Given the description of an element on the screen output the (x, y) to click on. 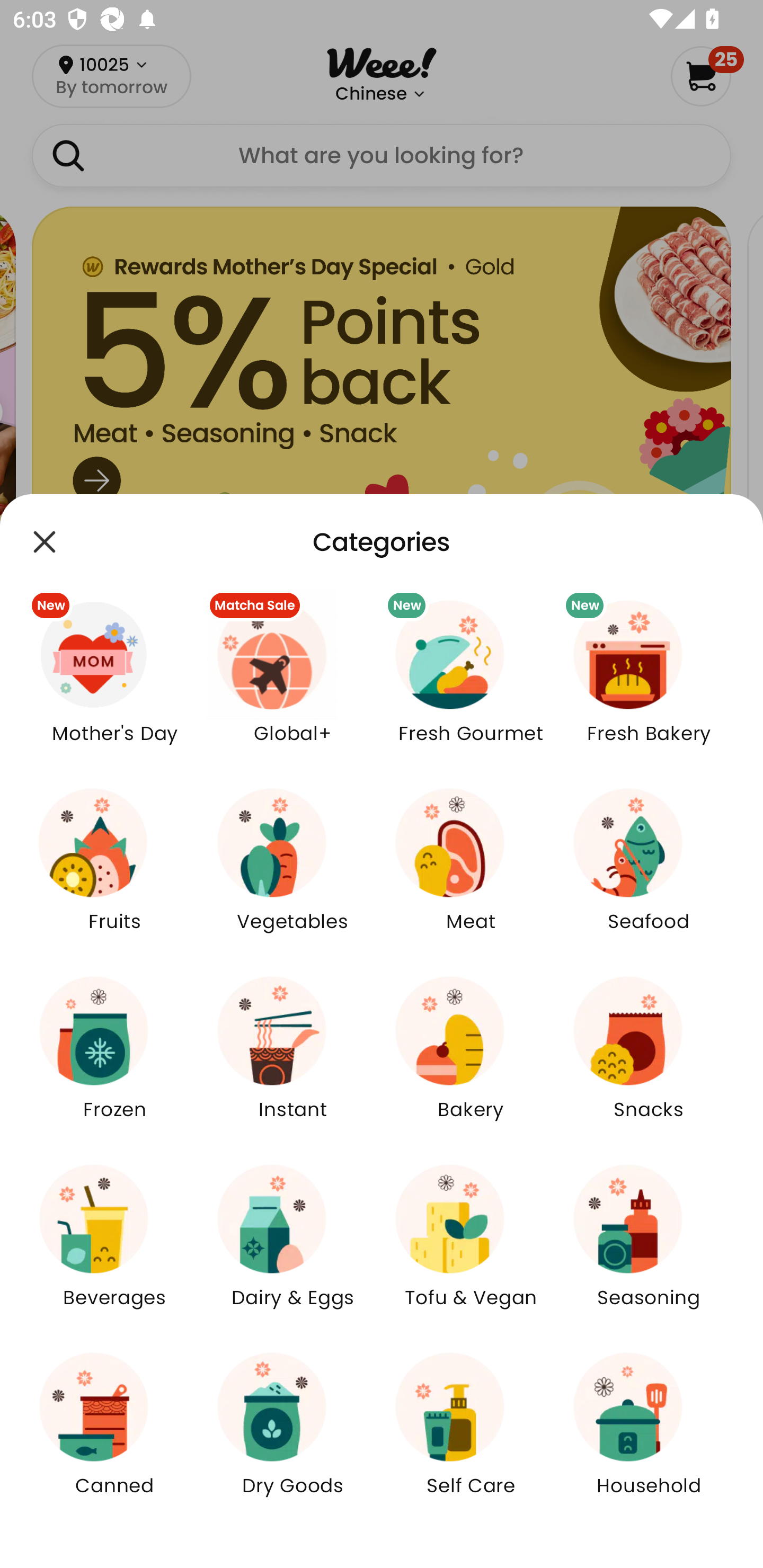
New Mother's Day (114, 683)
Matcha Sale Global+ (292, 683)
New Fresh Gourmet (470, 683)
New Fresh Bakery (648, 683)
Fruits (114, 871)
Vegetables (292, 871)
Meat (470, 871)
Seafood (648, 871)
Frozen (114, 1059)
Instant (292, 1059)
Bakery (470, 1059)
Snacks (648, 1059)
Beverages (114, 1248)
Dairy & Eggs (292, 1248)
Tofu & Vegan (470, 1248)
Seasoning (648, 1248)
Canned (114, 1436)
Dry Goods (292, 1436)
Self Care (470, 1436)
Household (648, 1436)
